Given the description of an element on the screen output the (x, y) to click on. 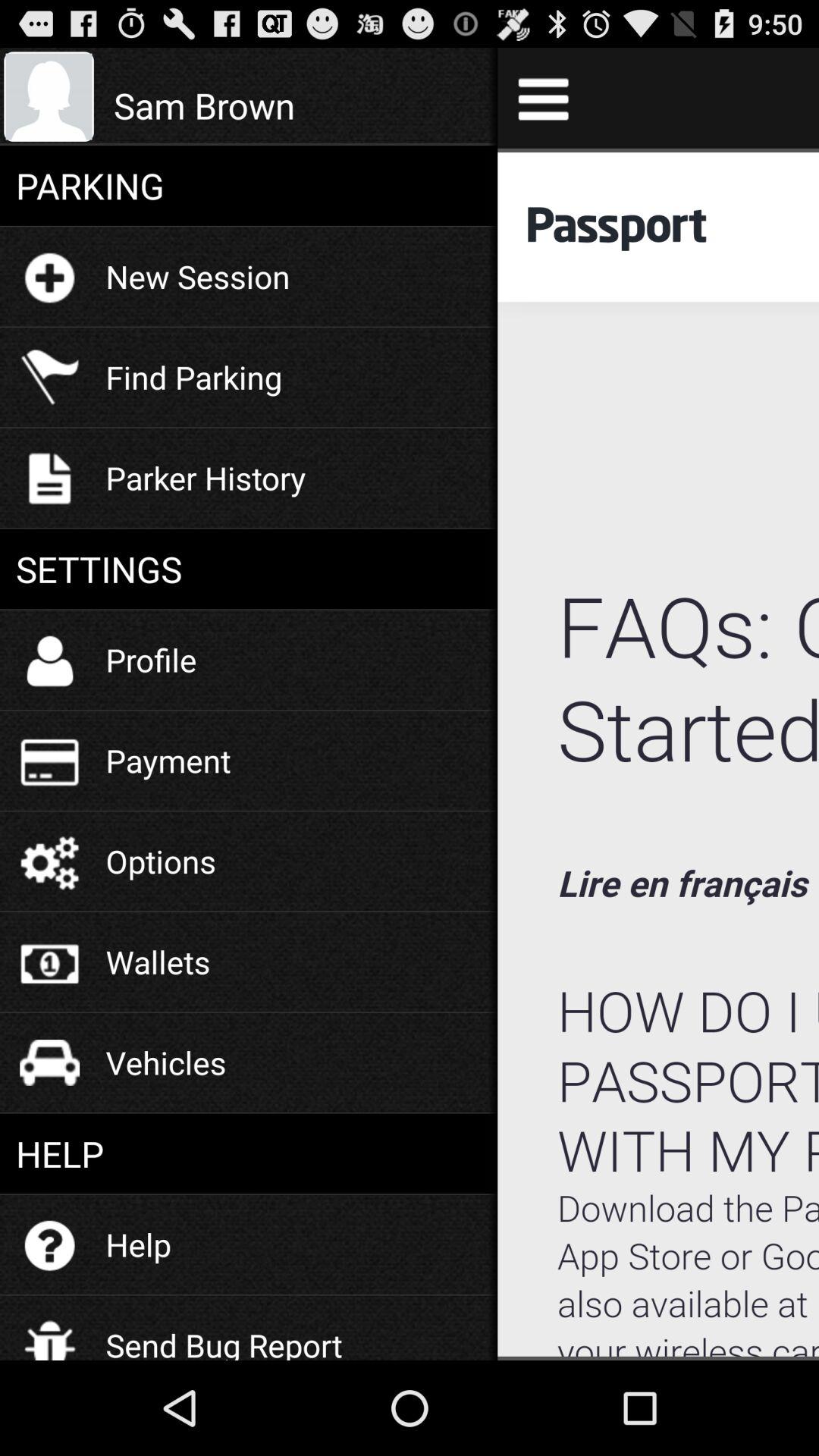
select the send bug report icon (223, 1333)
